Given the description of an element on the screen output the (x, y) to click on. 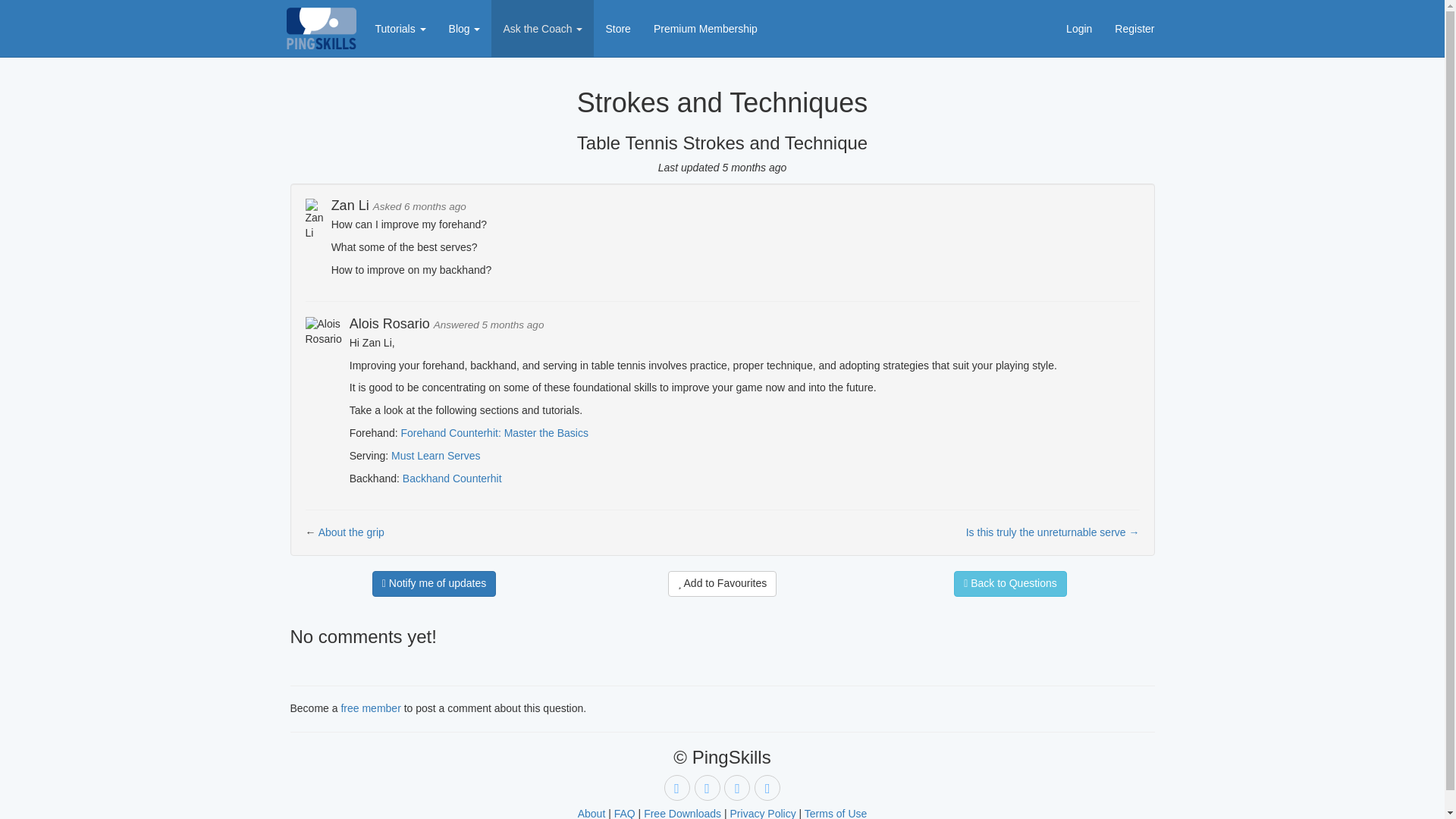
Ask the Coach (543, 28)
Follow PingSkills on YouTube (676, 787)
Blog (465, 28)
Contact PingSkills (767, 787)
Must Learn Serves (435, 455)
About the grip (351, 532)
Add to Favourites (722, 583)
free member (370, 707)
Backhand Counterhit (452, 478)
Back to Questions (1010, 583)
